Given the description of an element on the screen output the (x, y) to click on. 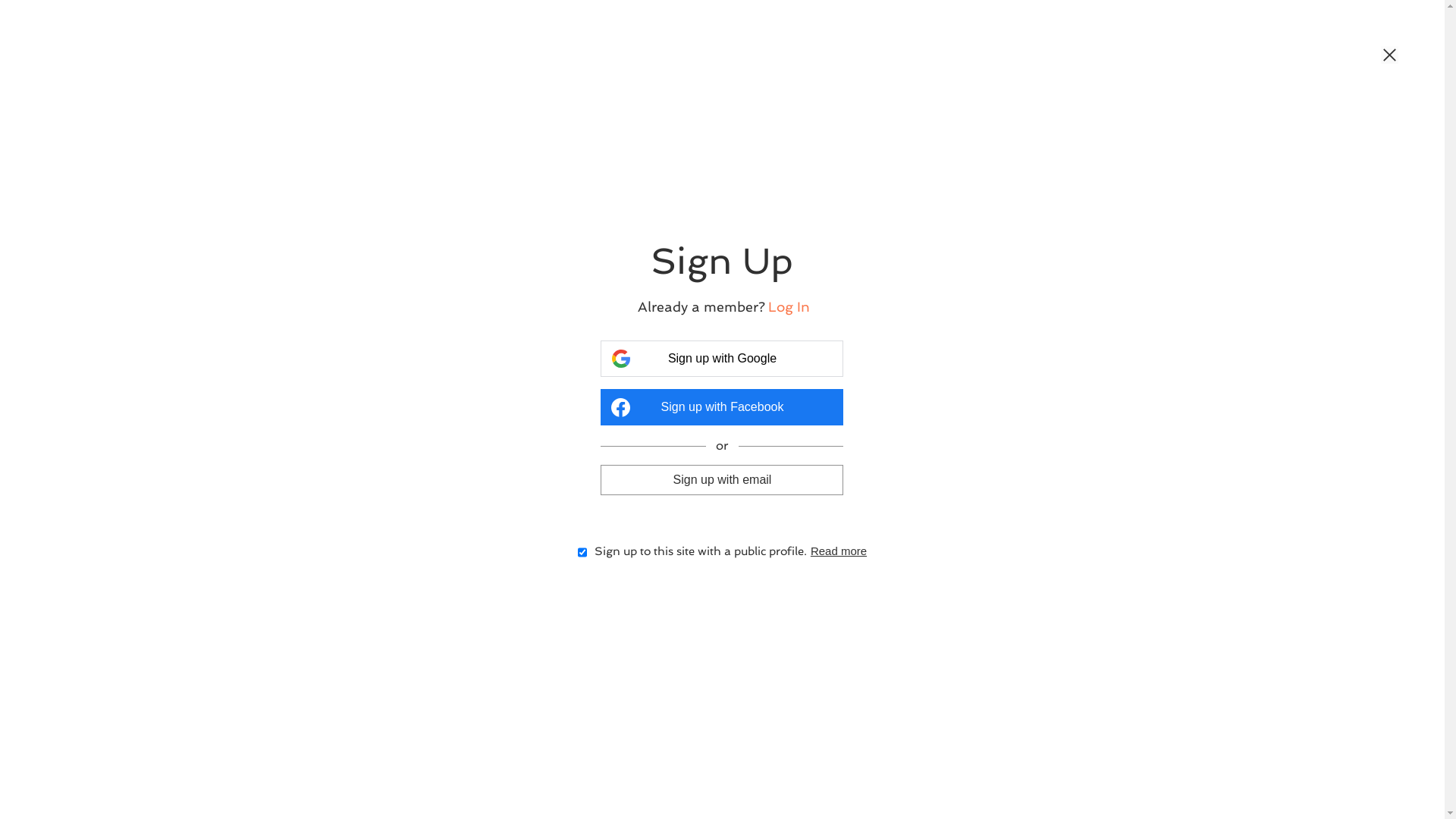
Sign up with email Element type: text (721, 479)
Sign up with Google Element type: text (721, 358)
Log In Element type: text (788, 306)
Read more Element type: text (838, 550)
Sign up with Facebook Element type: text (721, 407)
